Given the description of an element on the screen output the (x, y) to click on. 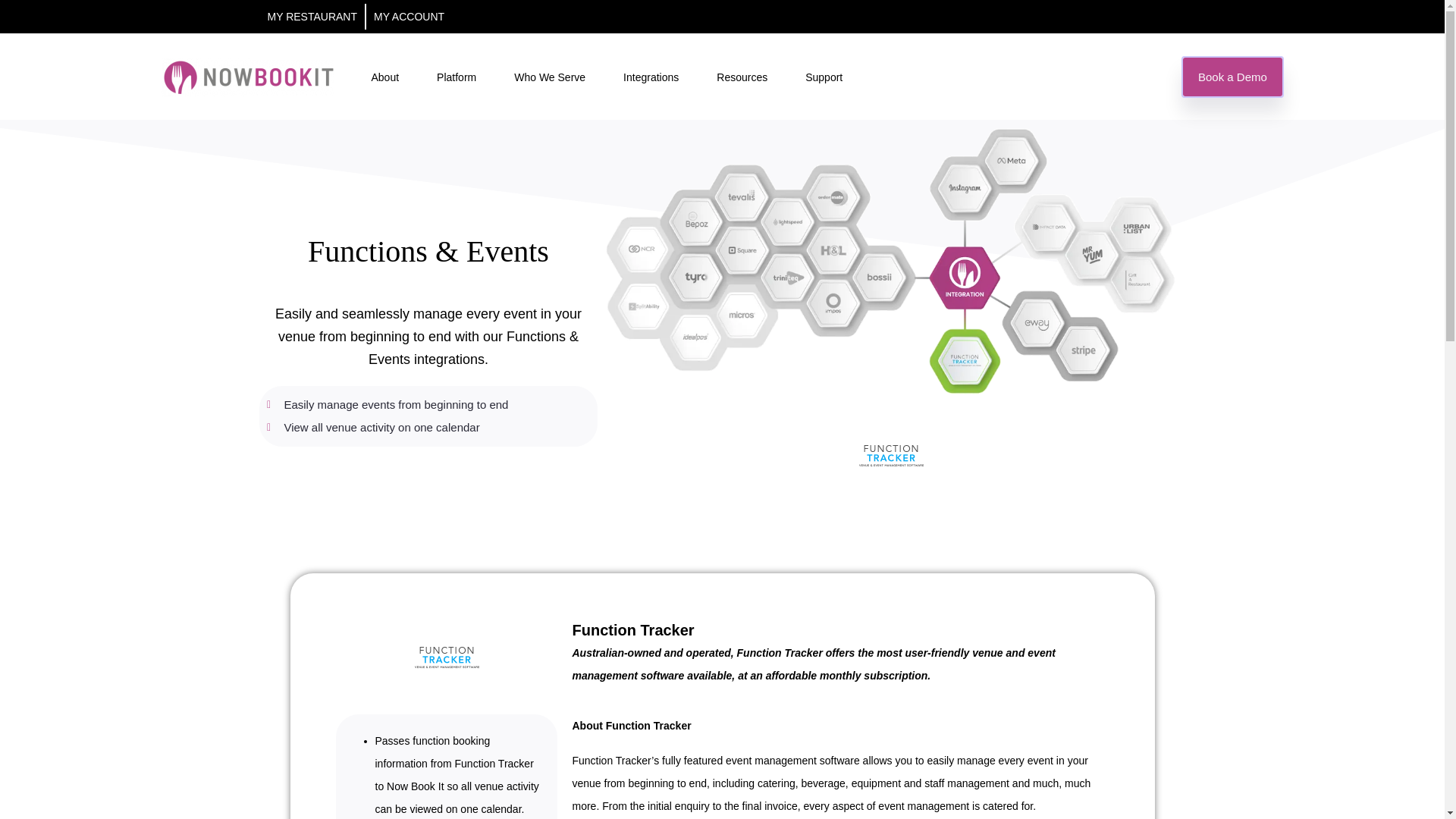
NBI-logo.png (246, 76)
Integrations (650, 76)
About (384, 76)
Platform (456, 76)
MY RESTAURANT (316, 16)
Support (824, 76)
MY ACCOUNT (405, 16)
Resources (741, 76)
Who We Serve (549, 76)
